Given the description of an element on the screen output the (x, y) to click on. 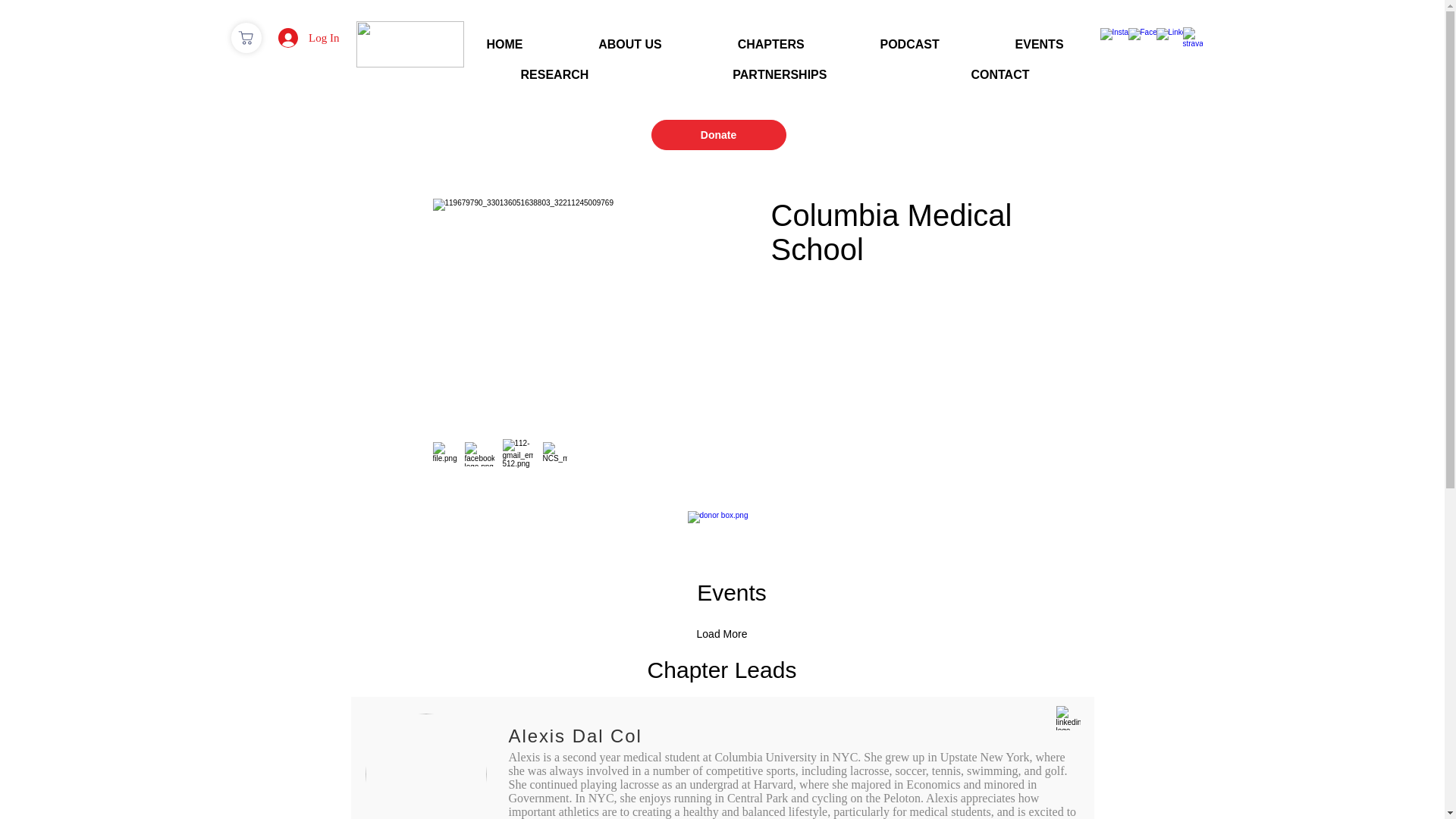
Log In (308, 37)
Black and Red MiM.png (410, 44)
ADalCol.png (425, 766)
PARTNERSHIPS (779, 74)
PODCAST (909, 44)
Donate (718, 134)
